Given the description of an element on the screen output the (x, y) to click on. 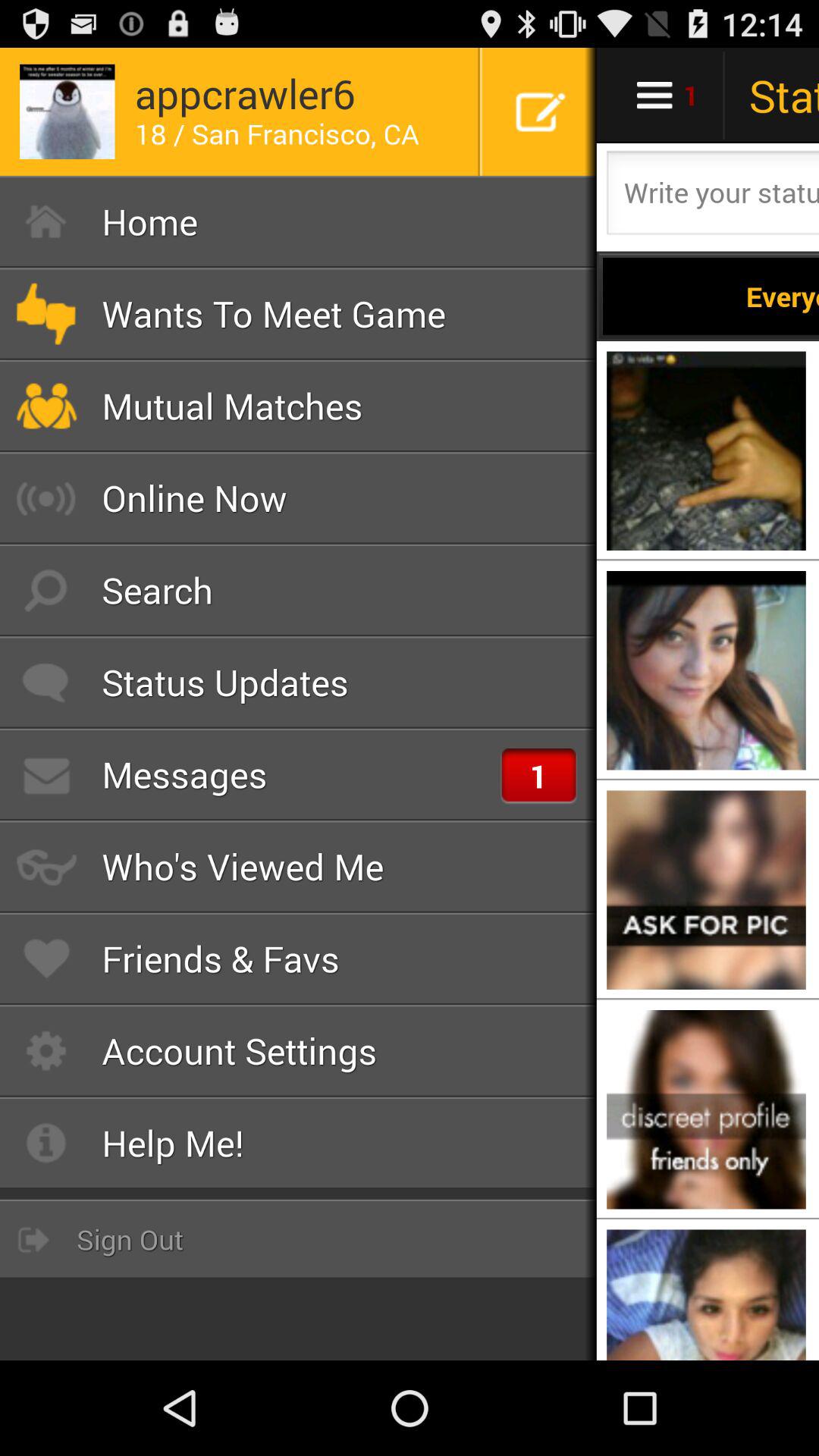
select icon above the mutual matches icon (298, 313)
